Given the description of an element on the screen output the (x, y) to click on. 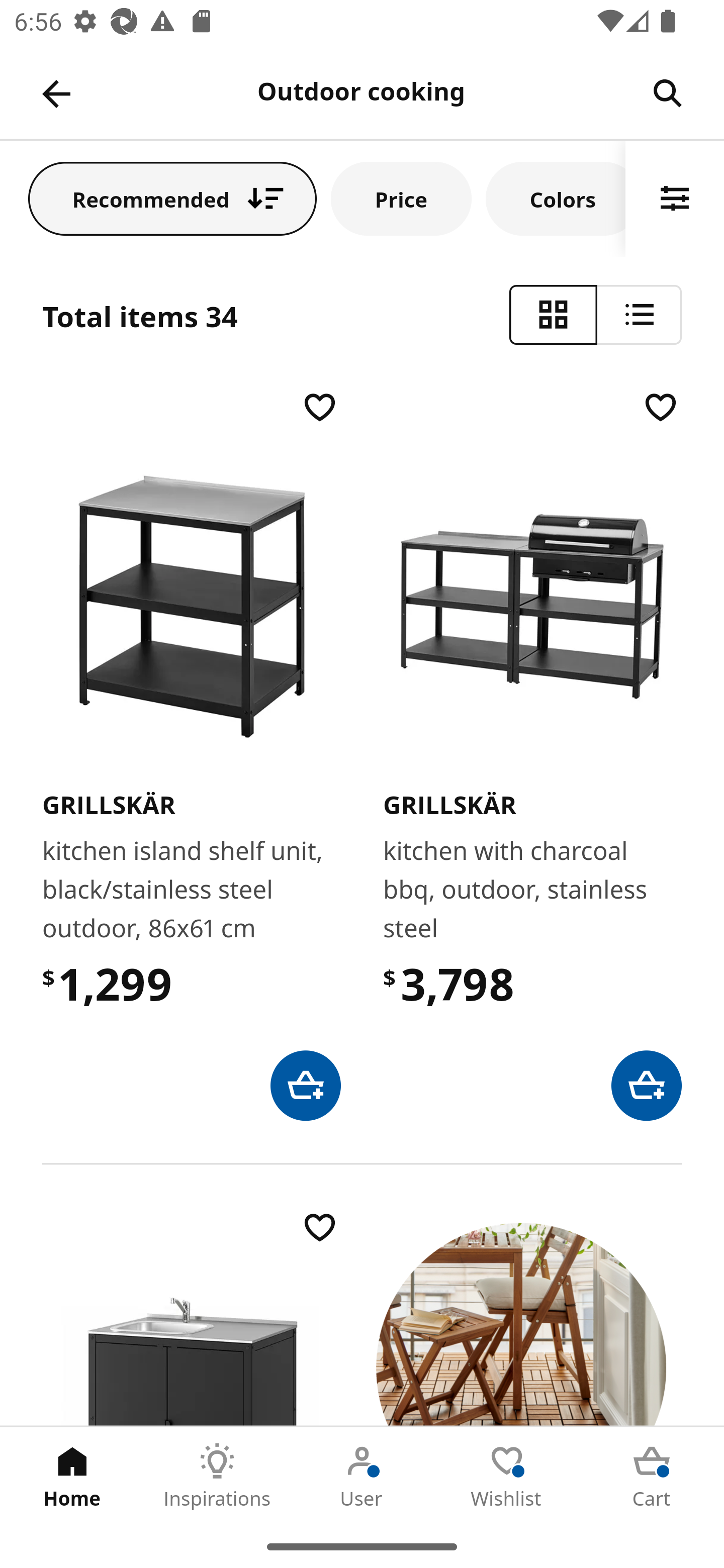
Recommended (172, 198)
Price (400, 198)
Colors (555, 198)
Home
Tab 1 of 5 (72, 1476)
Inspirations
Tab 2 of 5 (216, 1476)
User
Tab 3 of 5 (361, 1476)
Wishlist
Tab 4 of 5 (506, 1476)
Cart
Tab 5 of 5 (651, 1476)
